Given the description of an element on the screen output the (x, y) to click on. 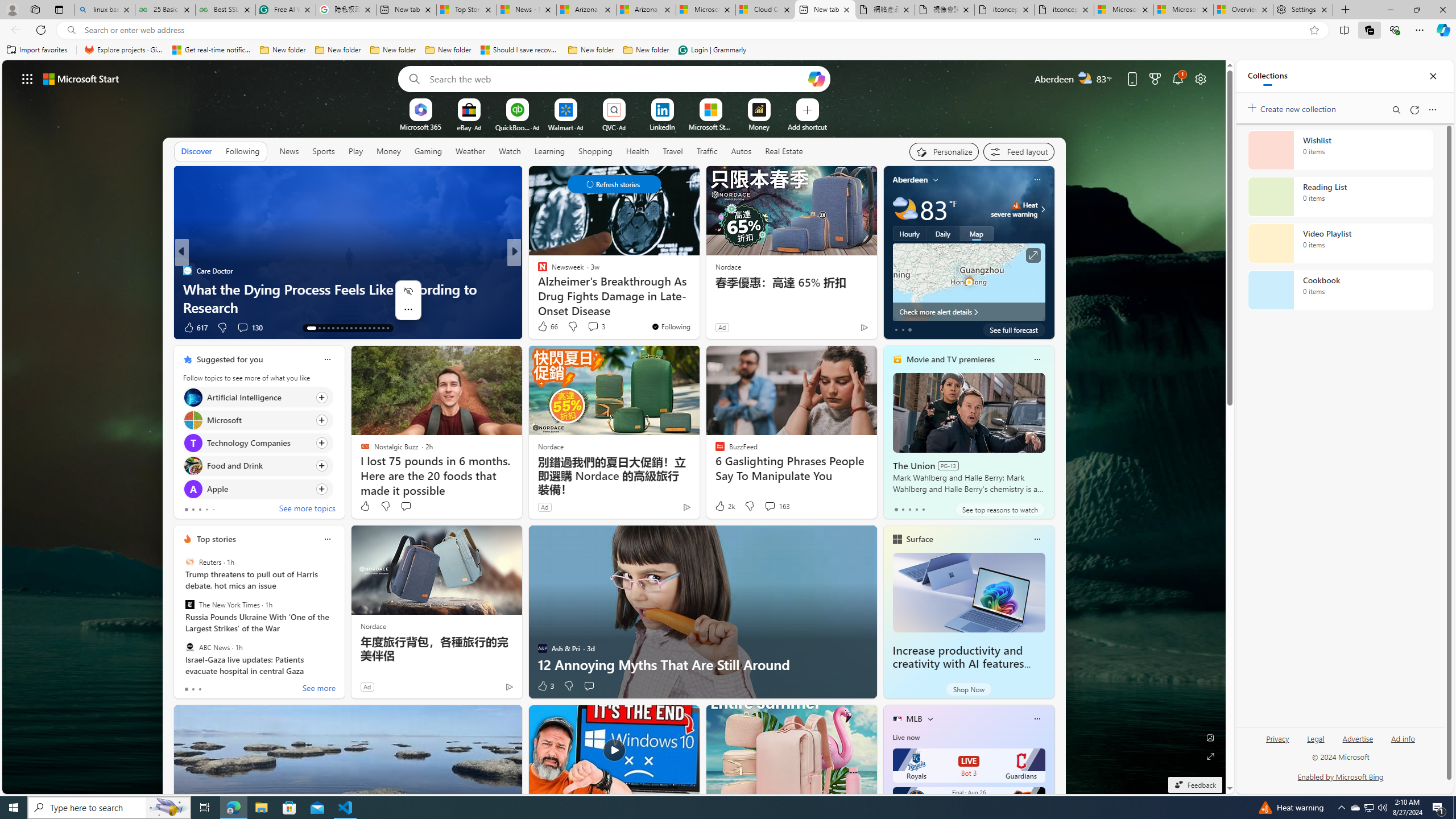
962 Like (545, 327)
15 Bad Hygiene Habits That Could Actually Make You Sick (697, 298)
View comments 115 Comment (599, 327)
Real Estate (783, 151)
View comments 3 Comment (596, 326)
linux basic - Search (104, 9)
View comments 2 Comment (592, 327)
107 Like (545, 327)
Shape (537, 288)
